Given the description of an element on the screen output the (x, y) to click on. 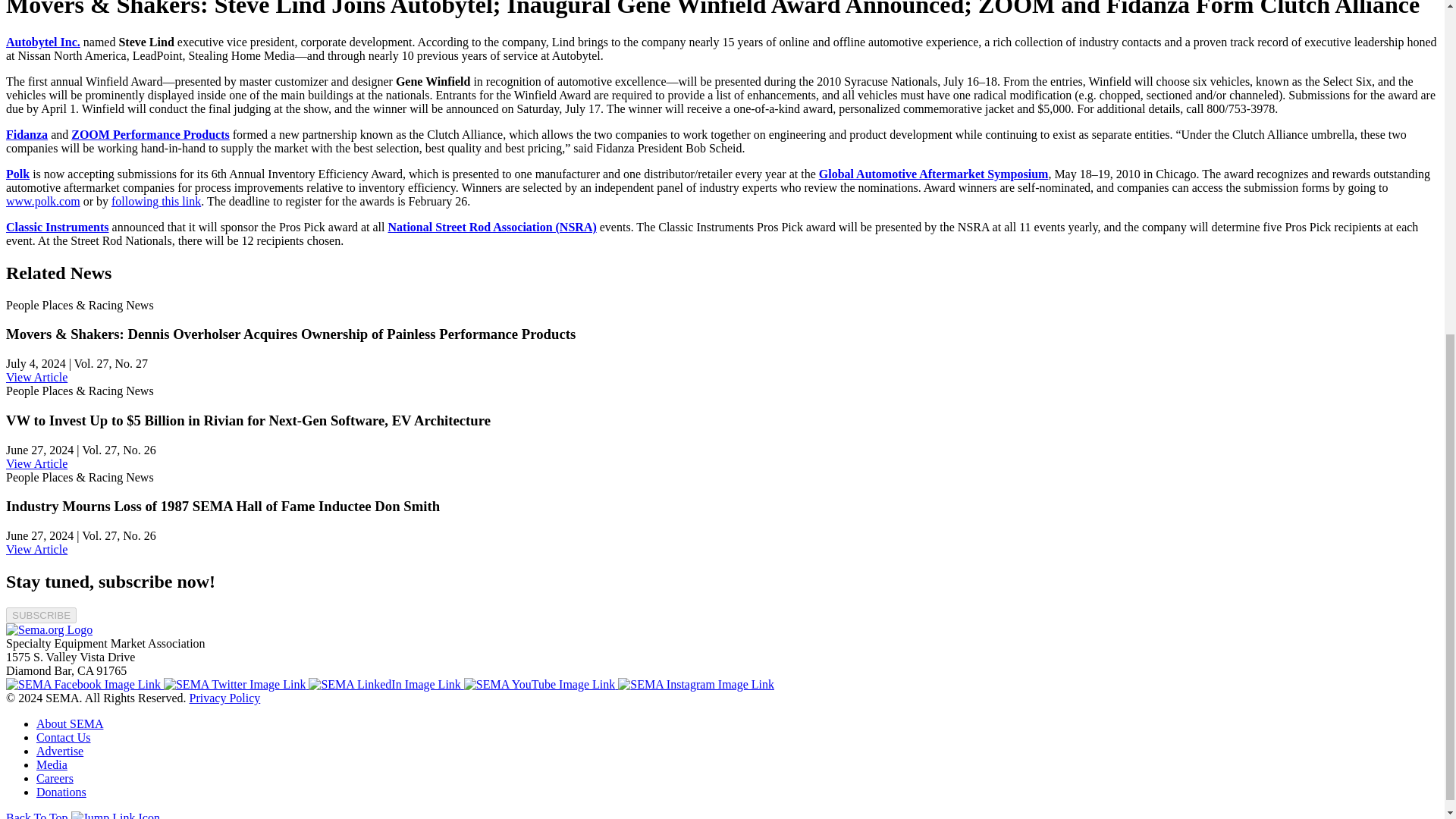
Autobytel Inc. (42, 42)
ZOOM Performance Products (150, 133)
SEMA LinkedIn Link (385, 684)
SEMA Instagram Link (695, 684)
SEMA YouTube Link (540, 684)
View Article (35, 377)
www.polk.com (42, 201)
Classic Instruments (57, 226)
Privacy Policy (224, 697)
